Given the description of an element on the screen output the (x, y) to click on. 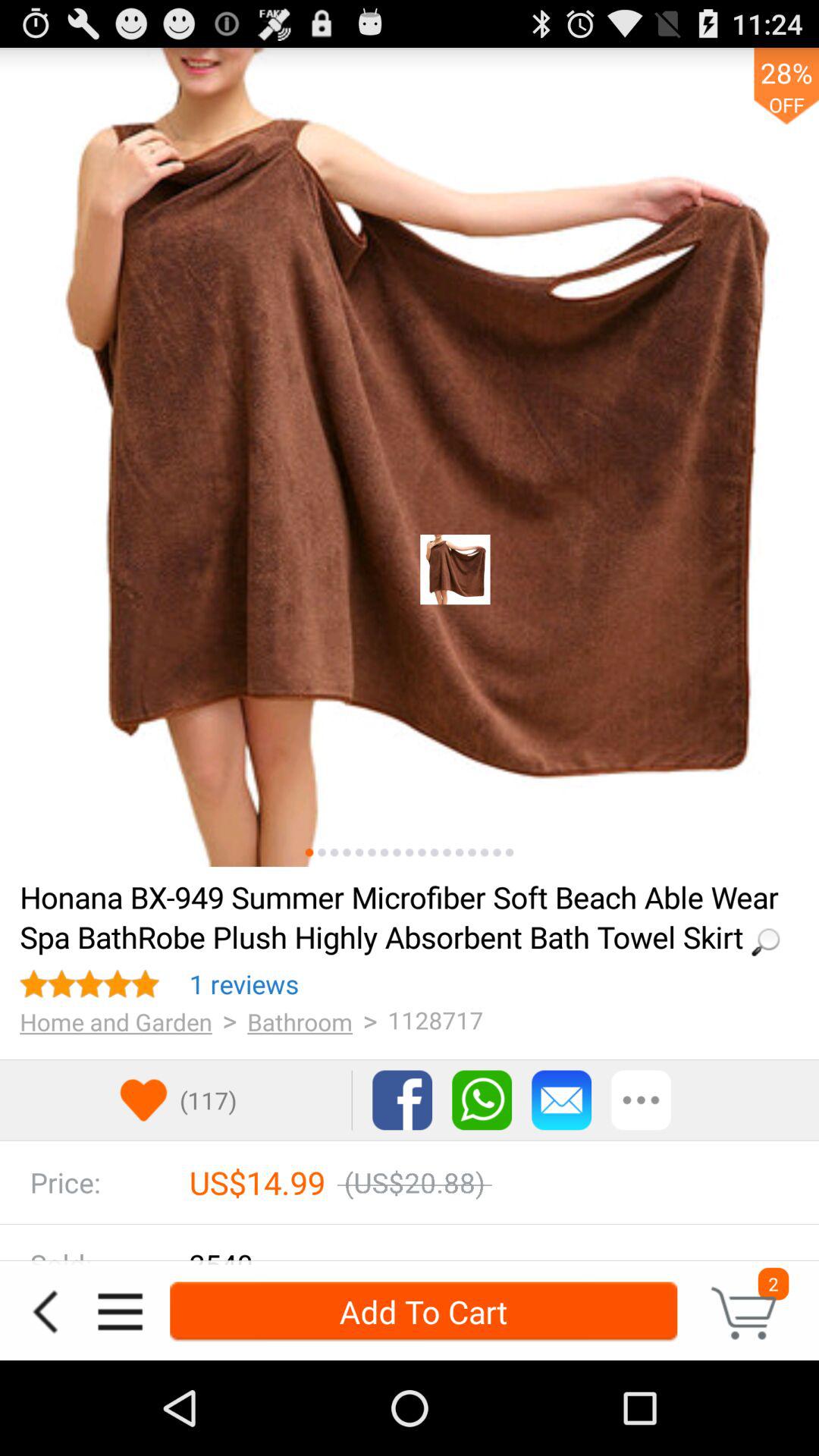
share in facebook (402, 1100)
